Given the description of an element on the screen output the (x, y) to click on. 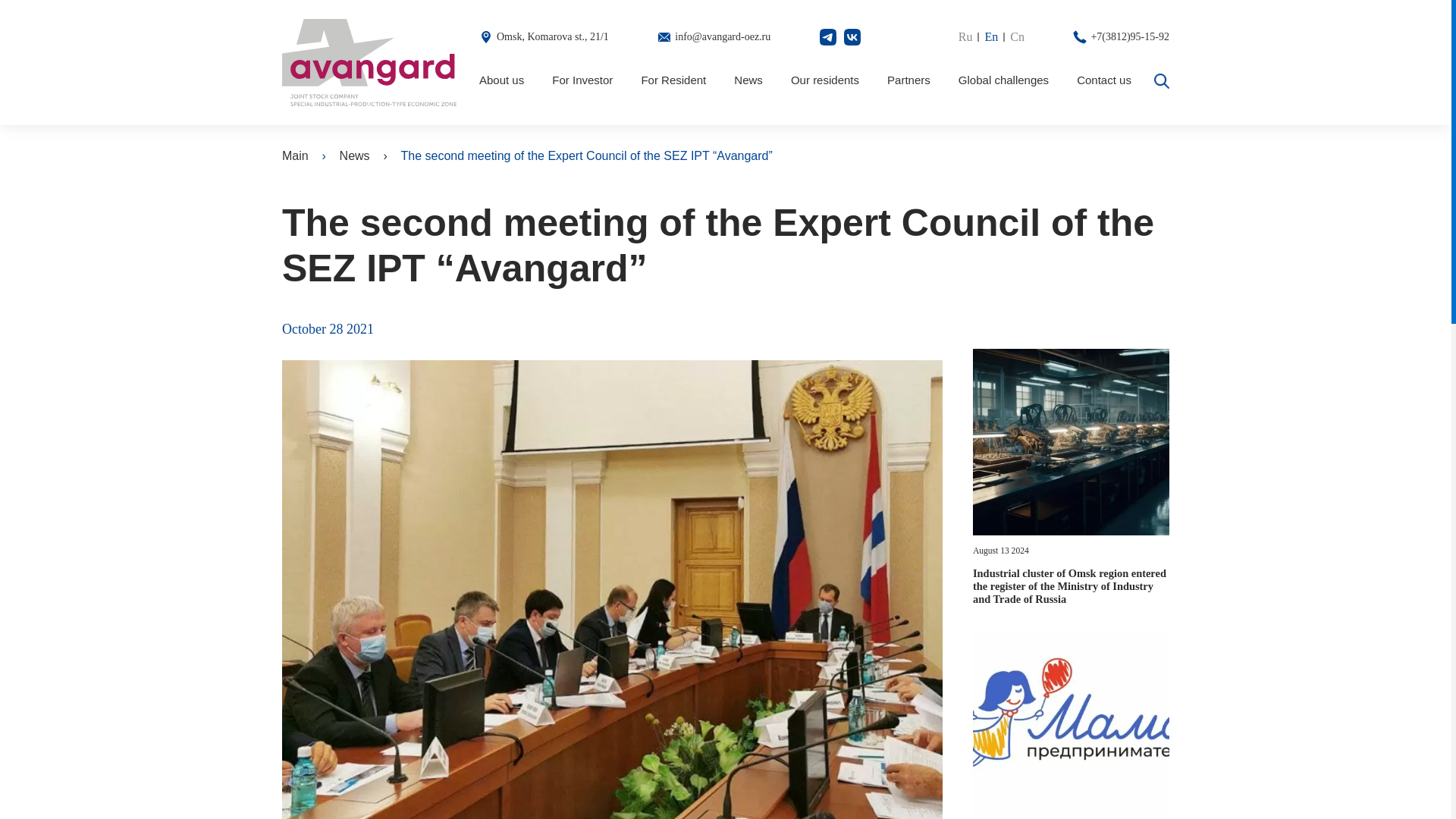
For Investor (581, 79)
En (997, 36)
News (747, 79)
News (354, 156)
Cn (1017, 36)
Contact us (1104, 79)
Our residents (824, 79)
Main (295, 156)
About us (501, 79)
For Resident (673, 79)
